Given the description of an element on the screen output the (x, y) to click on. 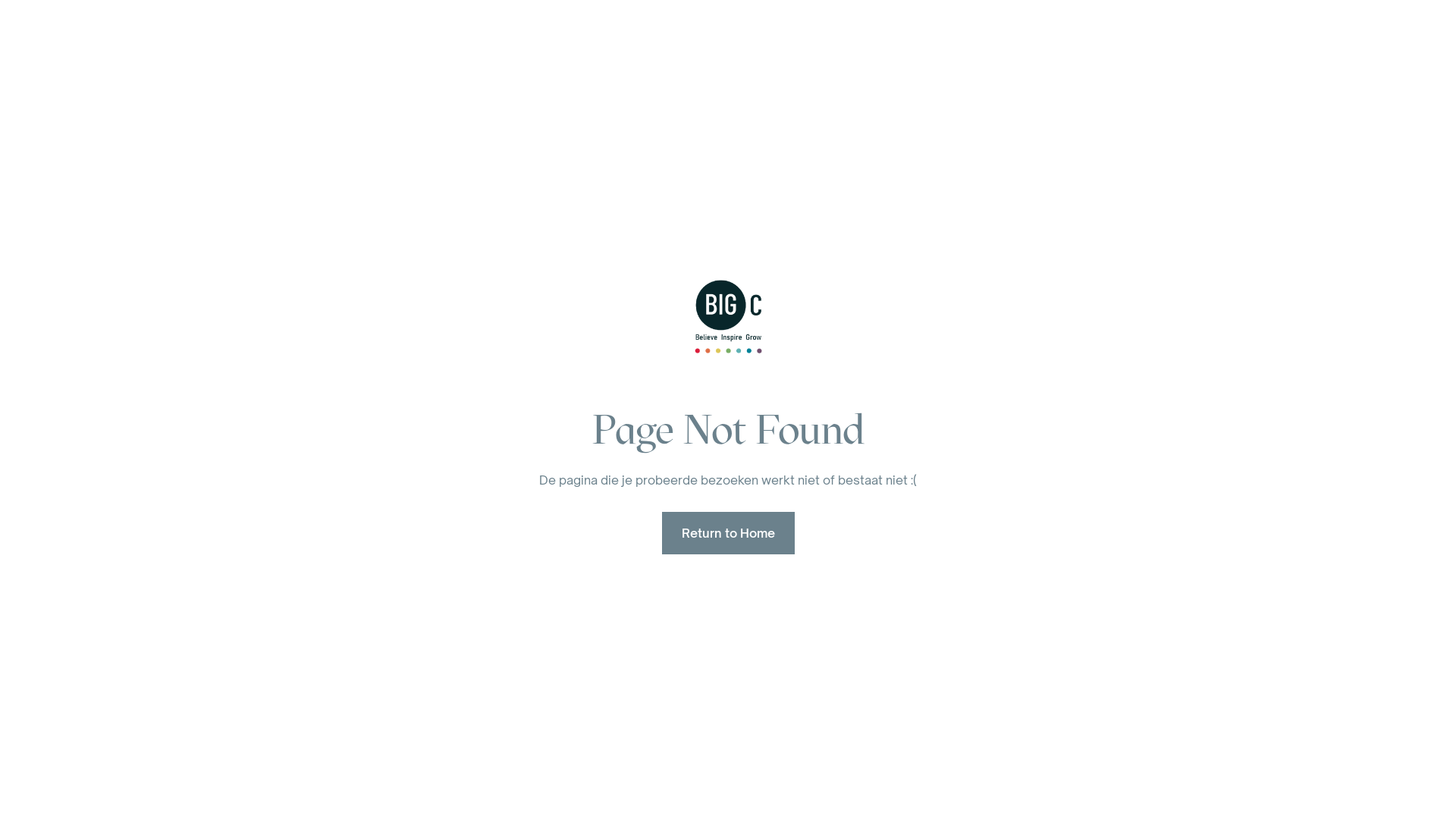
Return to Home Element type: text (727, 532)
